Given the description of an element on the screen output the (x, y) to click on. 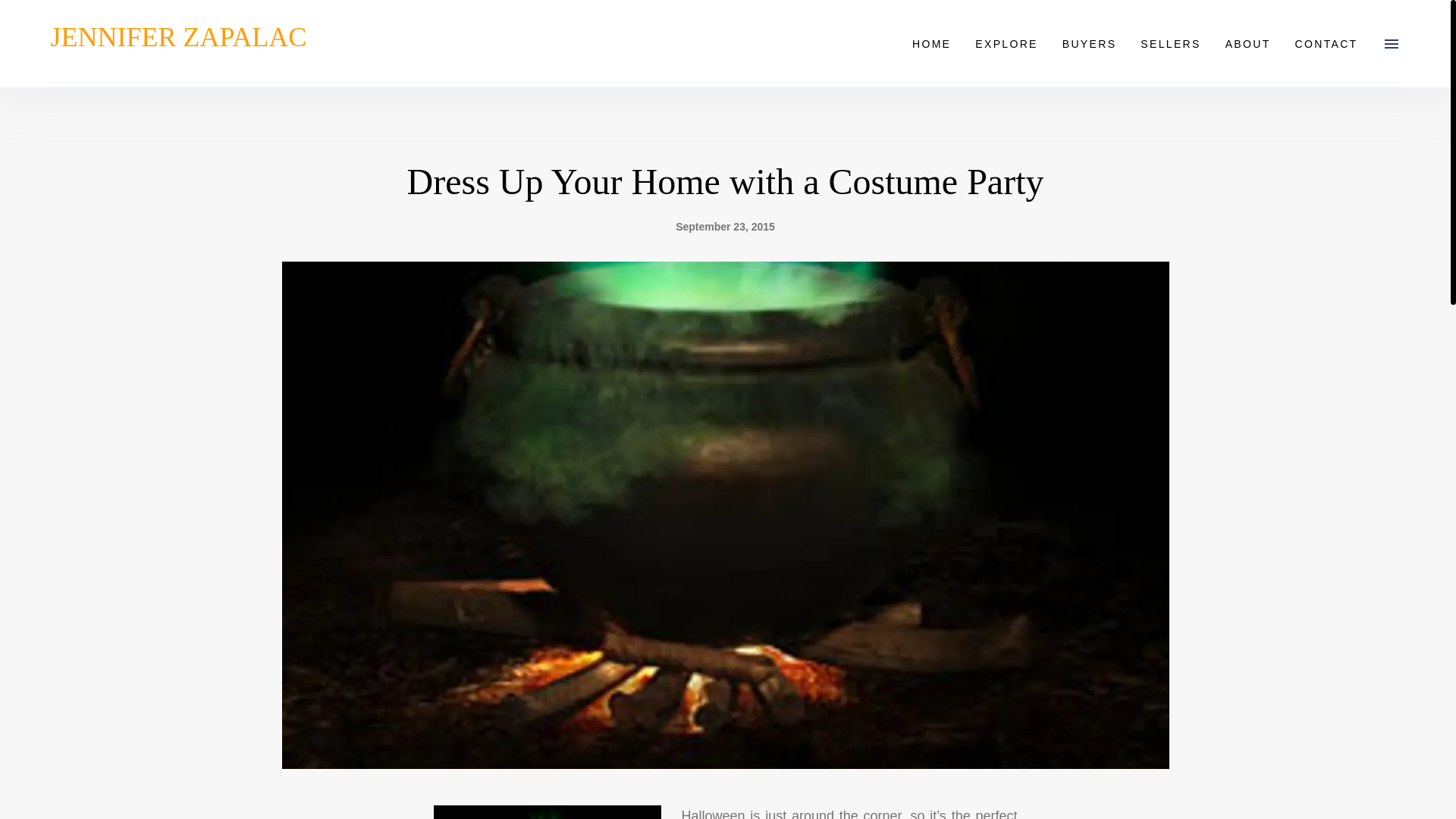
EXPLORE (1005, 43)
ABOUT (1247, 43)
BUYERS (1089, 43)
CONTACT (1326, 43)
HOME (930, 43)
SELLERS (1170, 43)
JENNIFER ZAPALAC (177, 43)
